Given the description of an element on the screen output the (x, y) to click on. 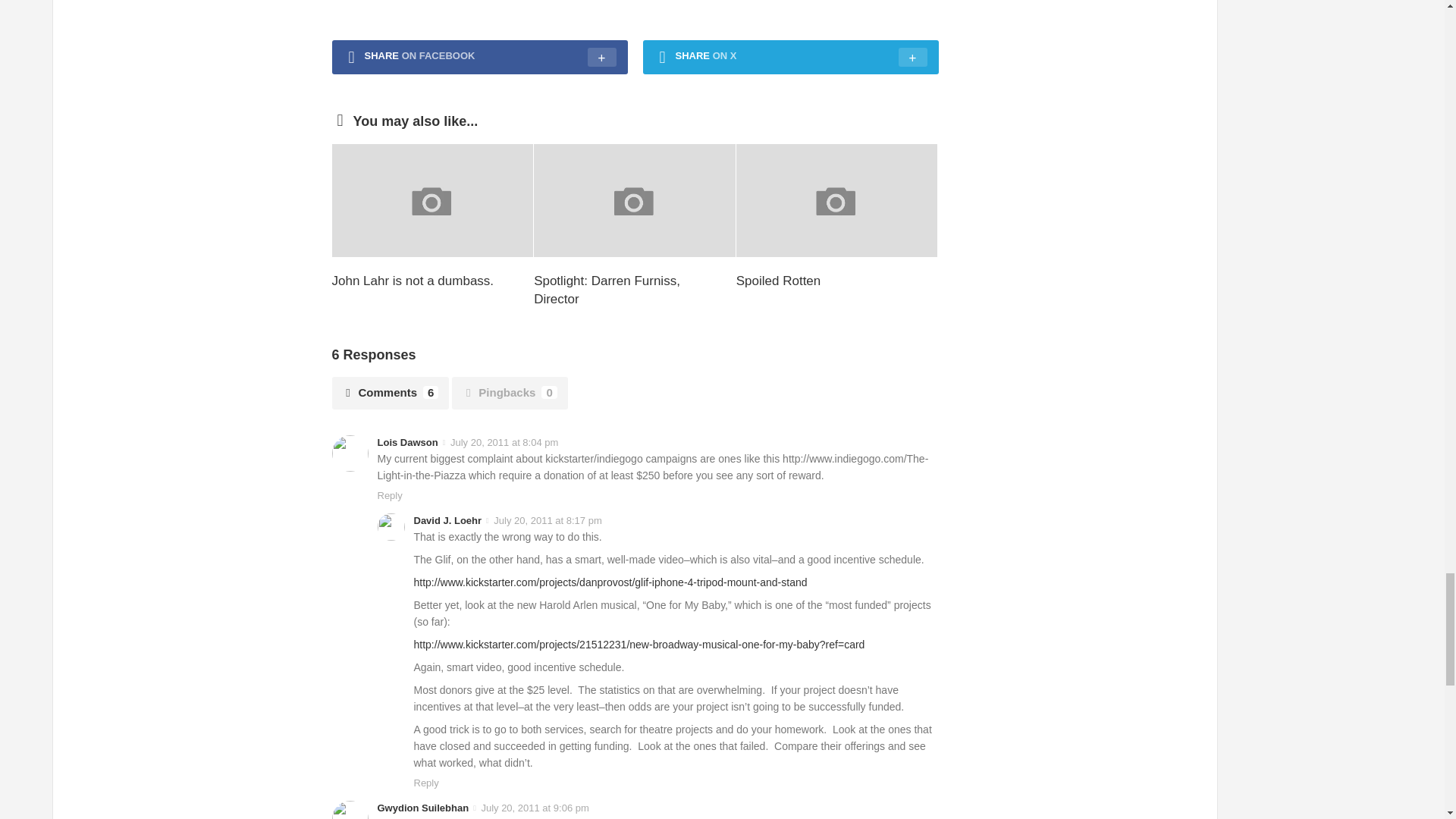
July 20, 2011 at 8:04 pm (503, 441)
Pingbacks0 (509, 392)
SHARE ON X (791, 57)
Spotlight: Darren Furniss, Director (606, 289)
Lois Dawson (407, 441)
Comments6 (390, 392)
SHARE ON FACEBOOK (479, 57)
John Lahr is not a dumbass. (413, 280)
Spoiled Rotten (778, 280)
Reply (390, 495)
